Given the description of an element on the screen output the (x, y) to click on. 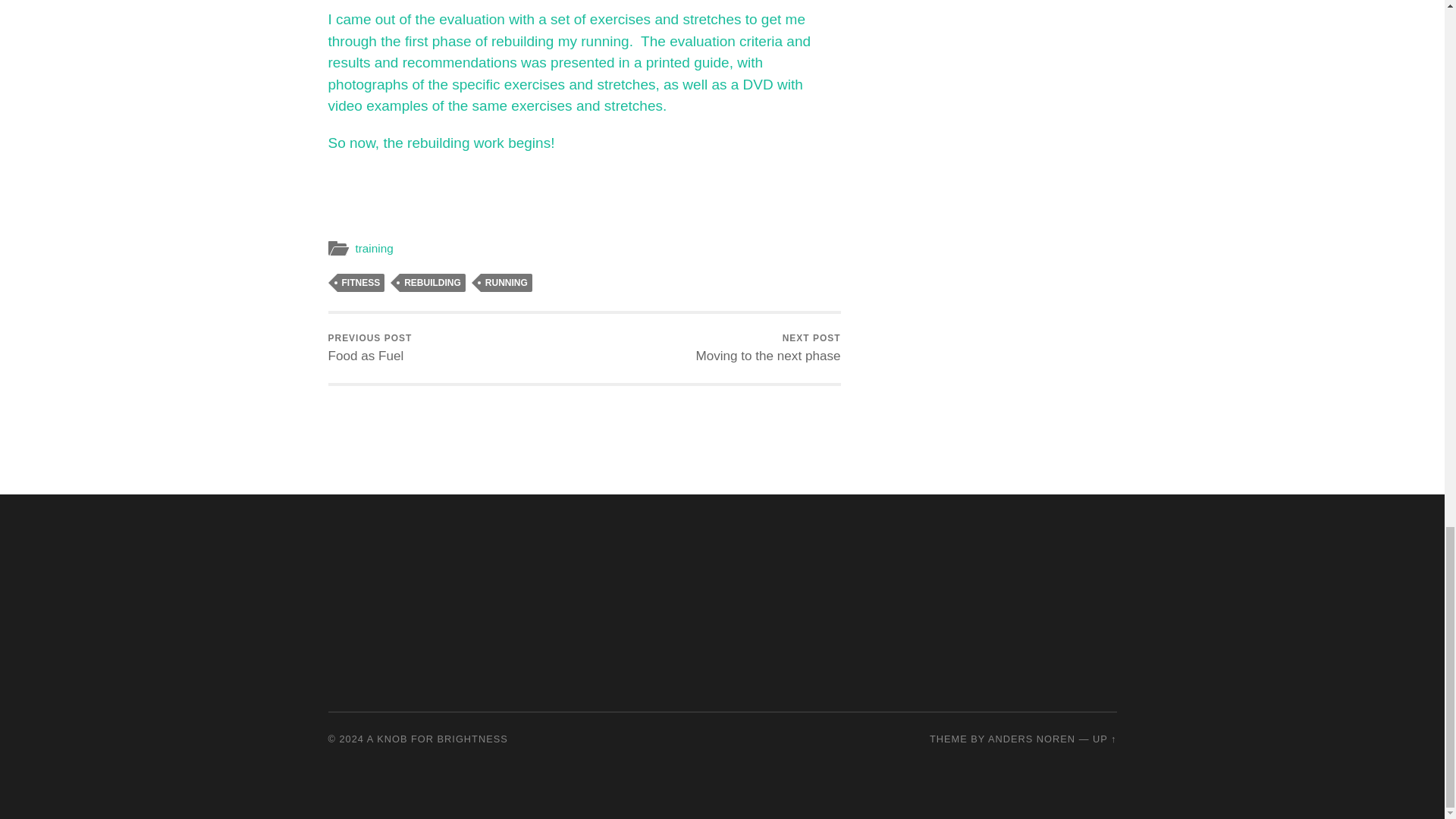
To the top (1104, 738)
training (374, 247)
RUNNING (369, 348)
REBUILDING (506, 282)
FITNESS (431, 282)
